Given the description of an element on the screen output the (x, y) to click on. 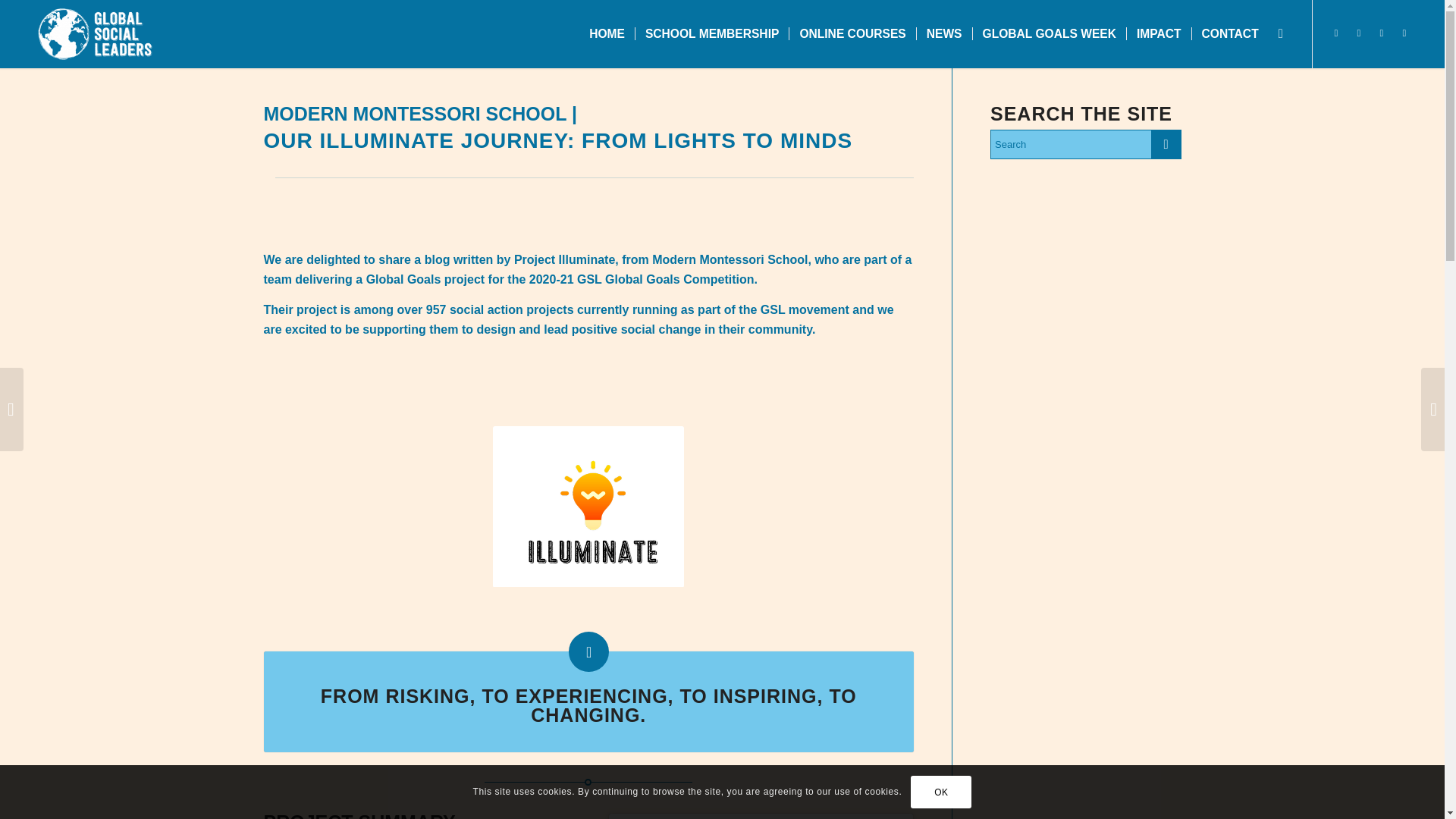
ONLINE COURSES (852, 33)
GLOBAL GOALS WEEK (1048, 33)
Global Goals Competition (679, 278)
CONTACT (1229, 33)
Facebook (1359, 33)
IMPACT (1158, 33)
SCHOOL MEMBERSHIP (711, 33)
Instagram (1381, 33)
LinkedIn (1404, 33)
Twitter (1336, 33)
